Given the description of an element on the screen output the (x, y) to click on. 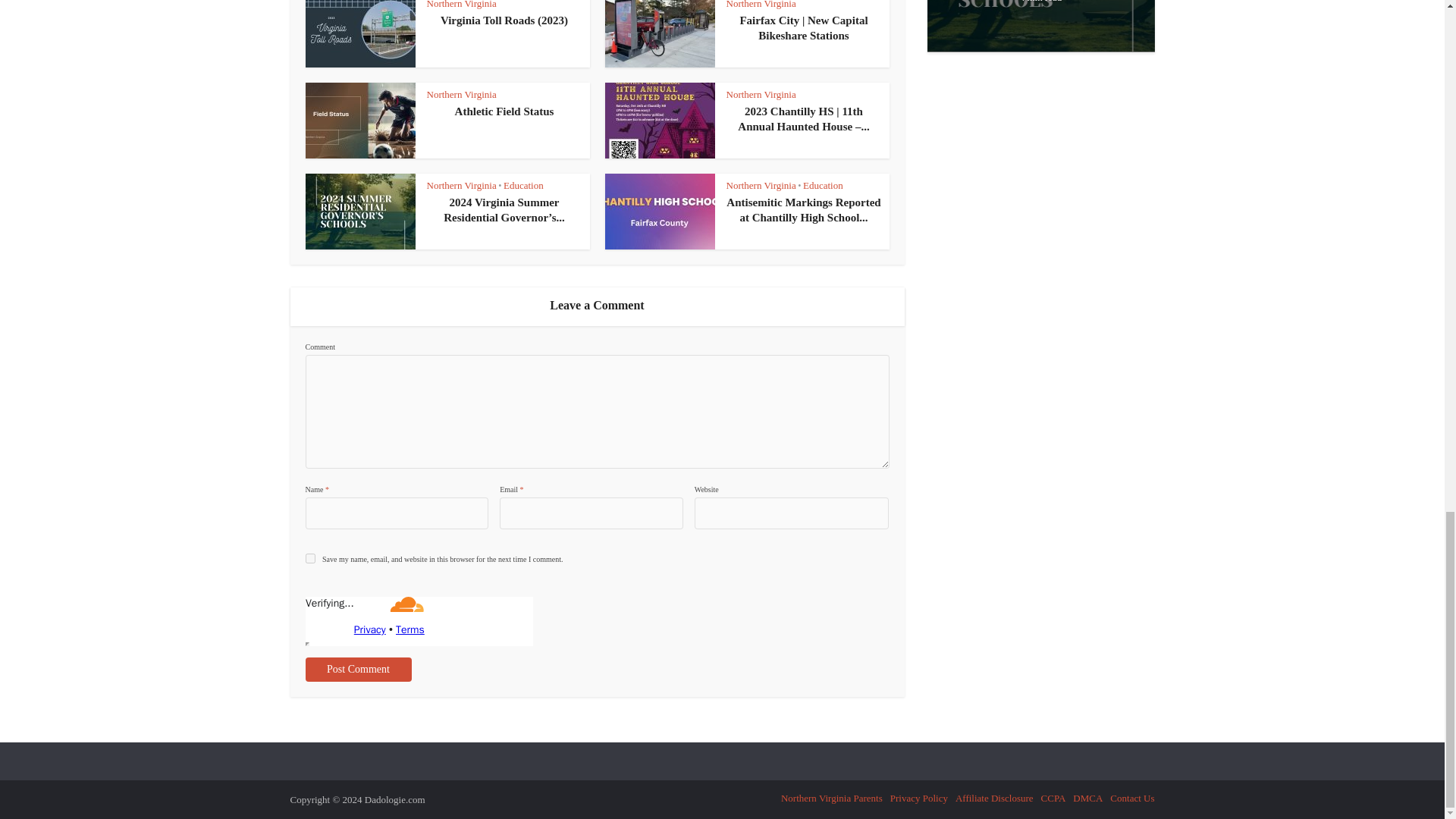
yes (309, 558)
Post Comment (357, 669)
Athletic Field Status (504, 111)
Athletic Field Status 4 (359, 120)
